Given the description of an element on the screen output the (x, y) to click on. 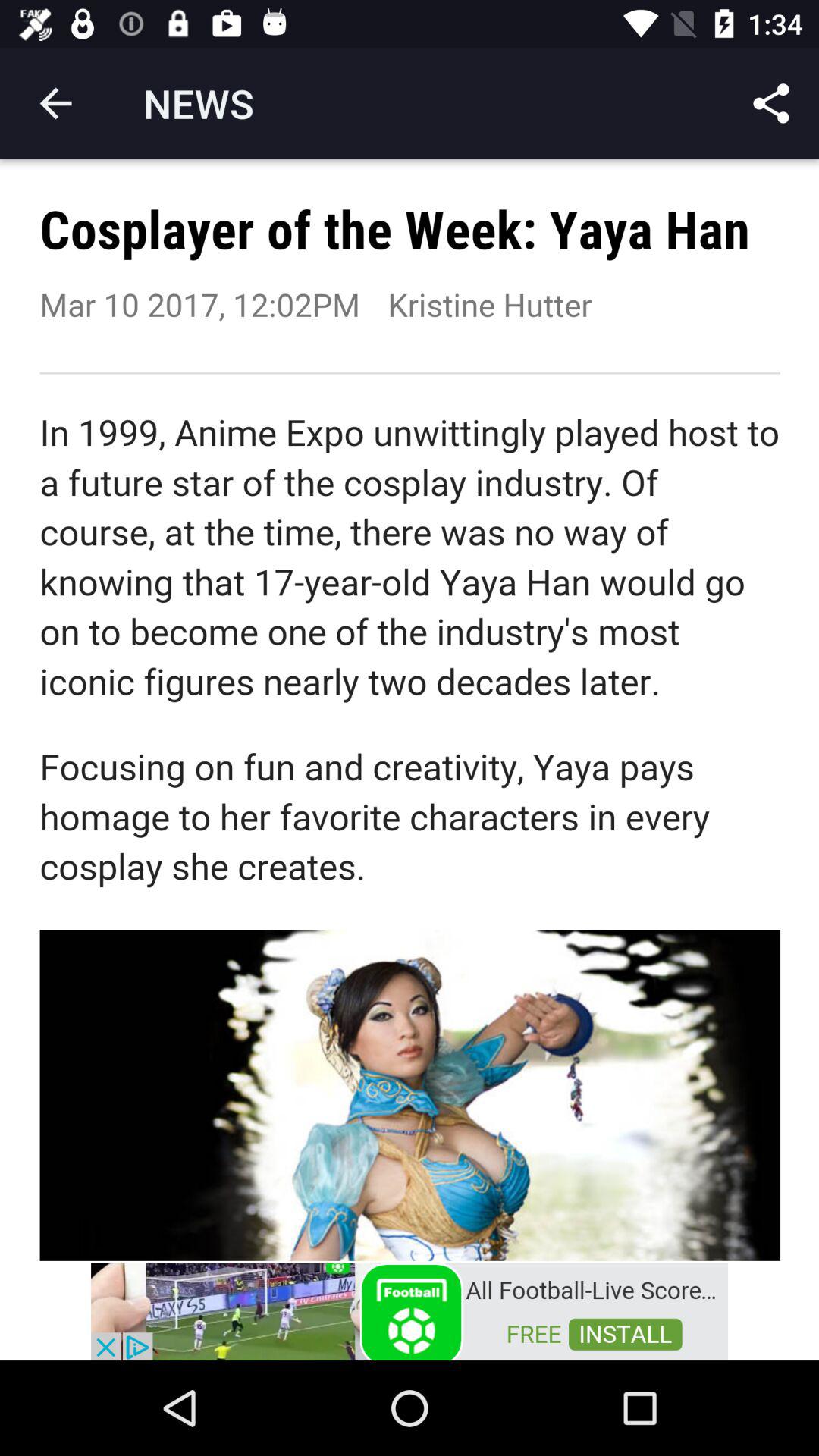
article in middle (409, 709)
